Given the description of an element on the screen output the (x, y) to click on. 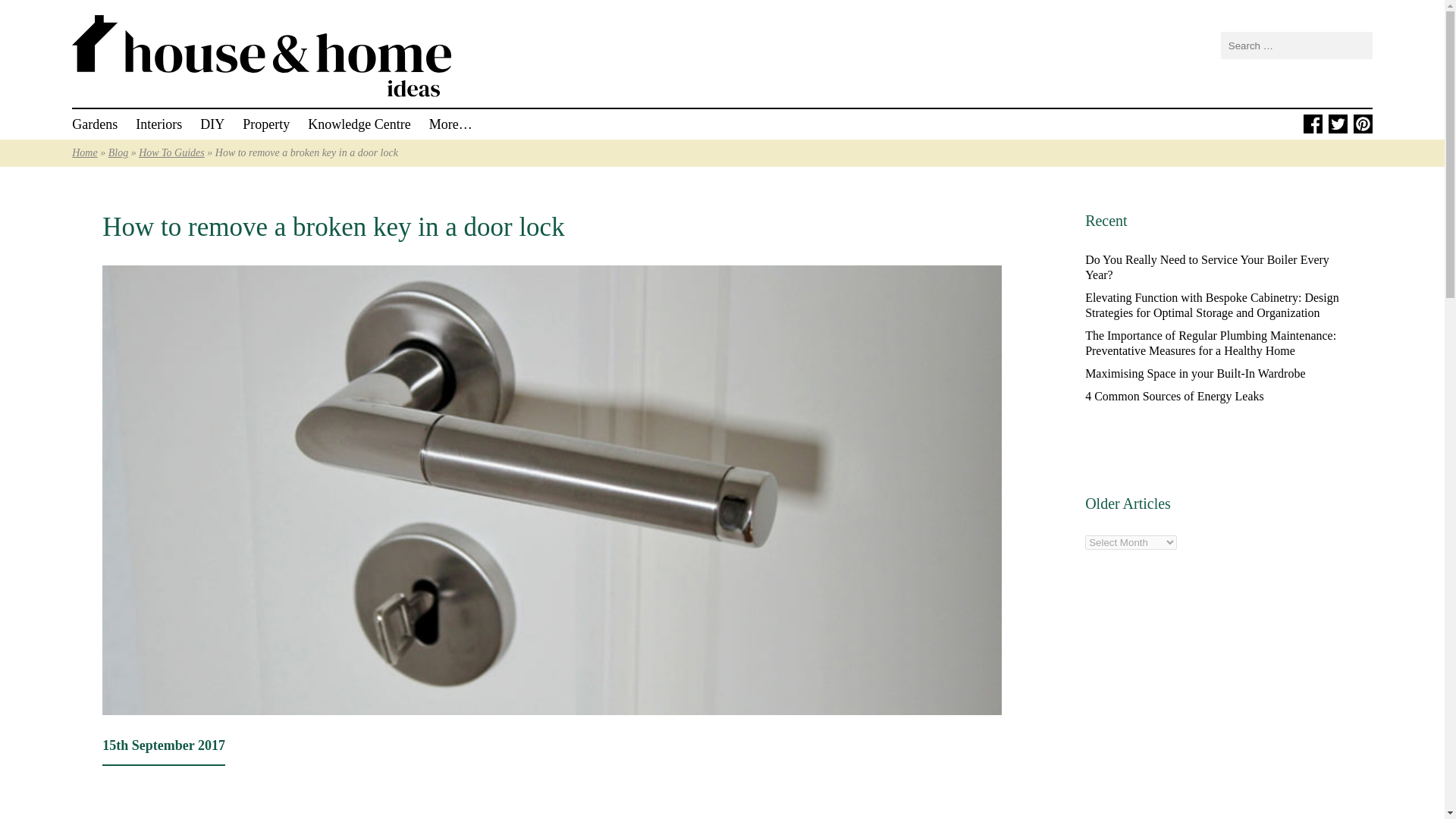
Blog (117, 152)
Knowledge Centre (358, 124)
Home (84, 152)
How to remove a broken key in a door lock (332, 226)
Property (266, 124)
How to remove a broken key in a door lock (332, 226)
Gardens (94, 124)
DIY (212, 124)
Do You Really Need to Service Your Boiler Every Year? (1206, 267)
Interiors (158, 124)
How To Guides (171, 152)
